Given the description of an element on the screen output the (x, y) to click on. 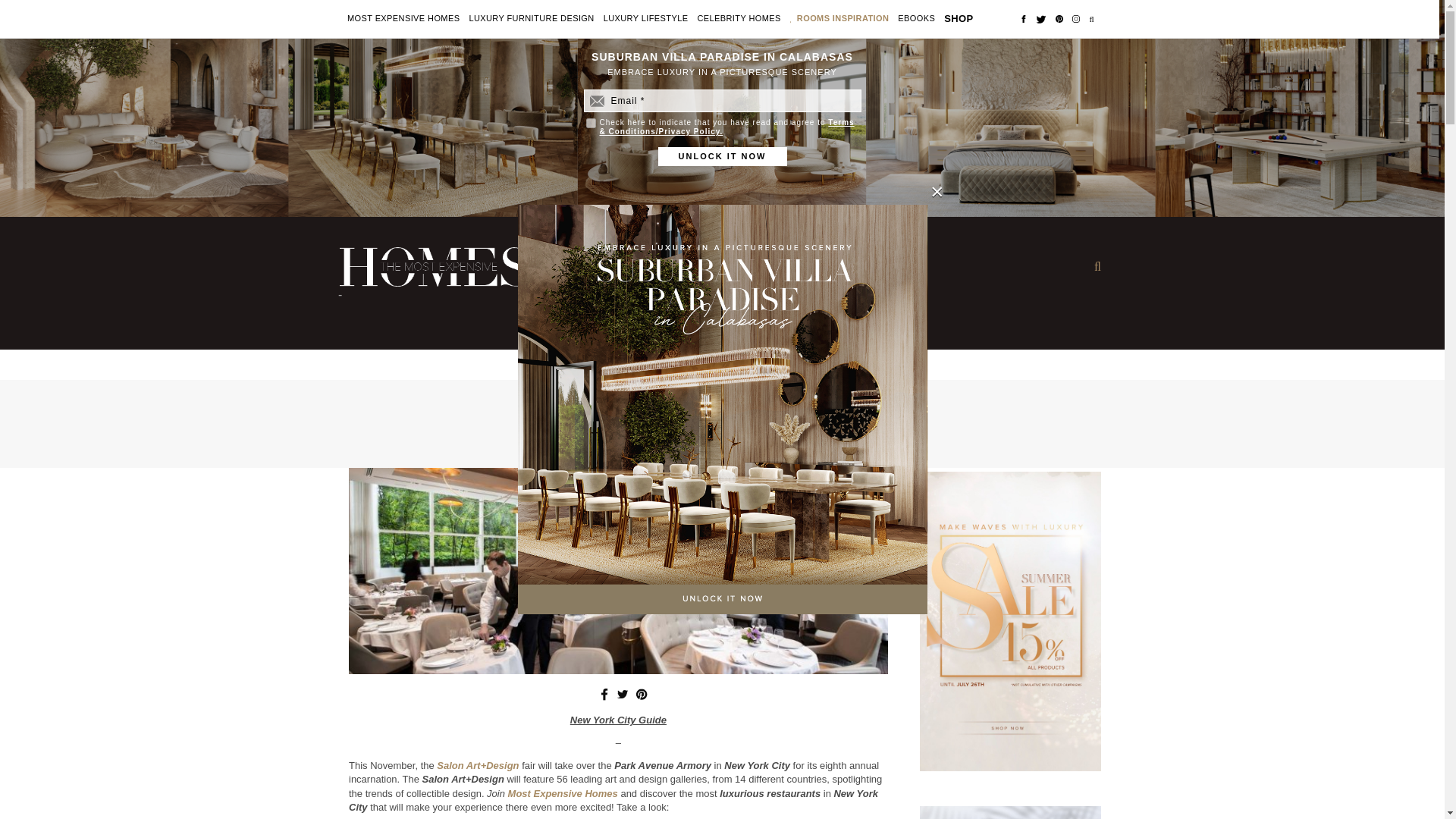
SHOP (957, 18)
LUXURY FURNITURE DESIGN (531, 19)
LUXURY LIFESTYLE (646, 19)
UNLOCK IT NOW (722, 156)
MOST EXPENSIVE HOMES (403, 19)
ROOMS INSPIRATION (842, 19)
on (590, 122)
CELEBRITY HOMES (738, 19)
EBOOKS (916, 19)
UNLOCK IT NOW (722, 156)
